Given the description of an element on the screen output the (x, y) to click on. 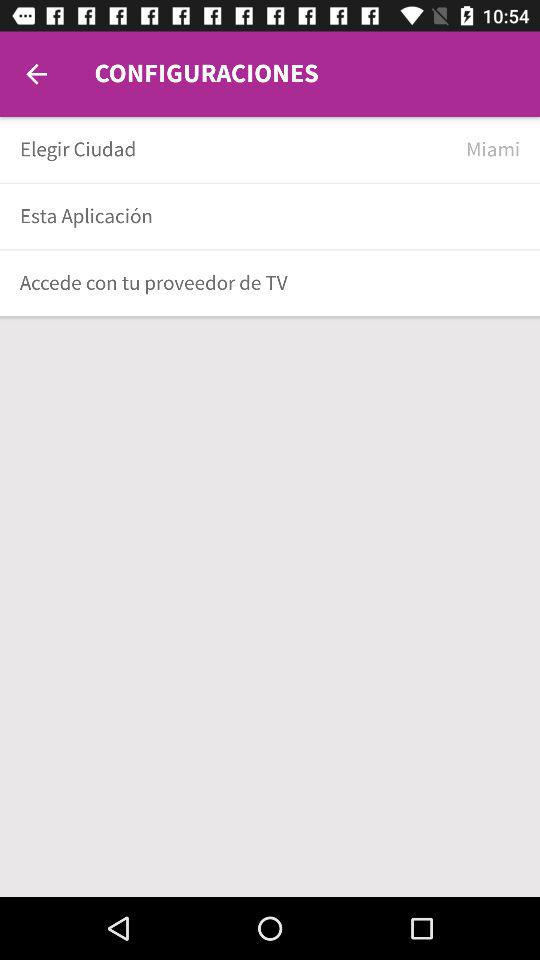
jump until the accede con tu (263, 282)
